Given the description of an element on the screen output the (x, y) to click on. 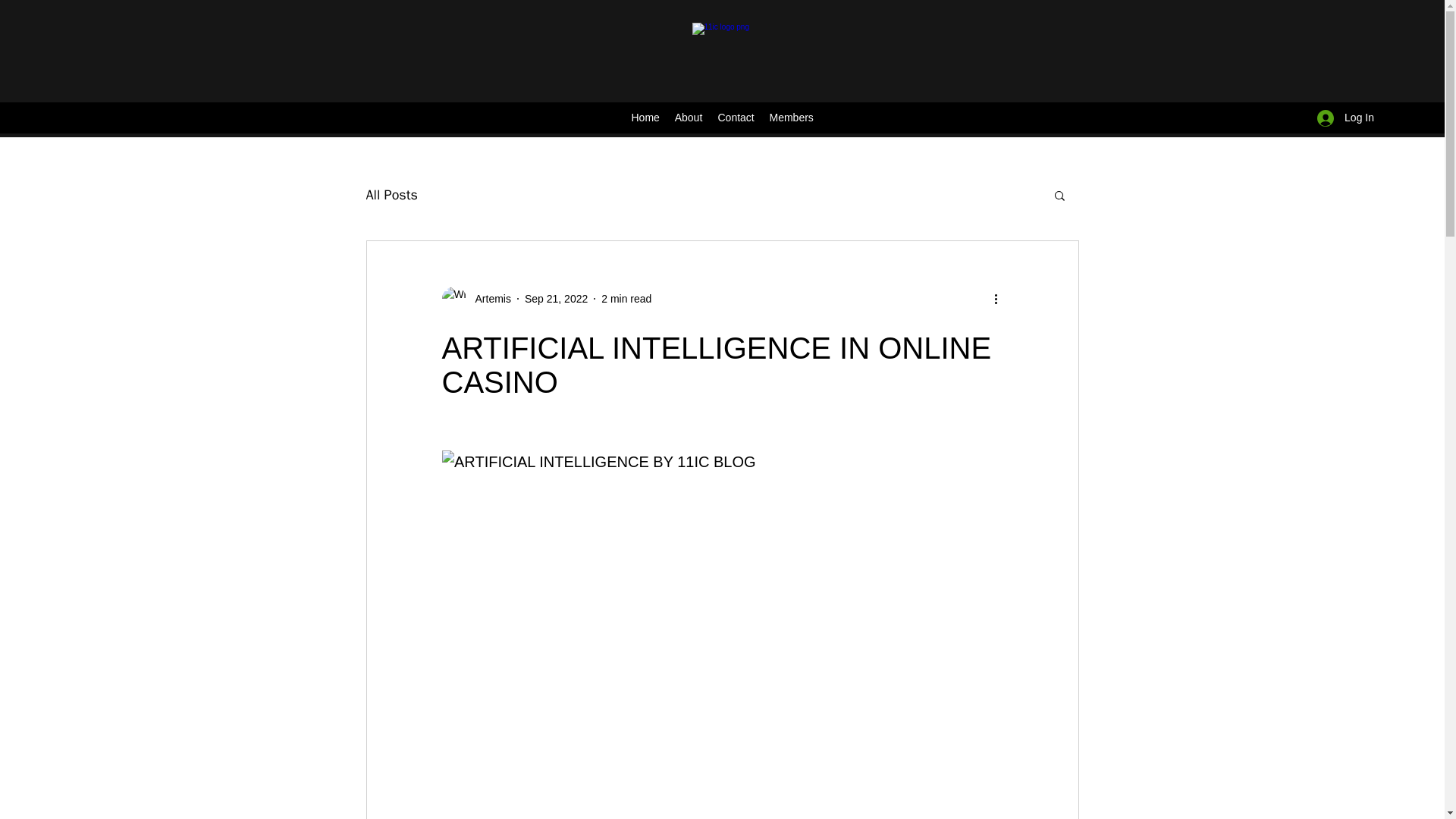
Artemis  (488, 299)
Log In (1345, 117)
All Posts (390, 194)
Contact (735, 117)
Artemis (476, 298)
About (688, 117)
2 min read (625, 298)
Members (791, 117)
Sep 21, 2022 (556, 298)
Home (644, 117)
